Given the description of an element on the screen output the (x, y) to click on. 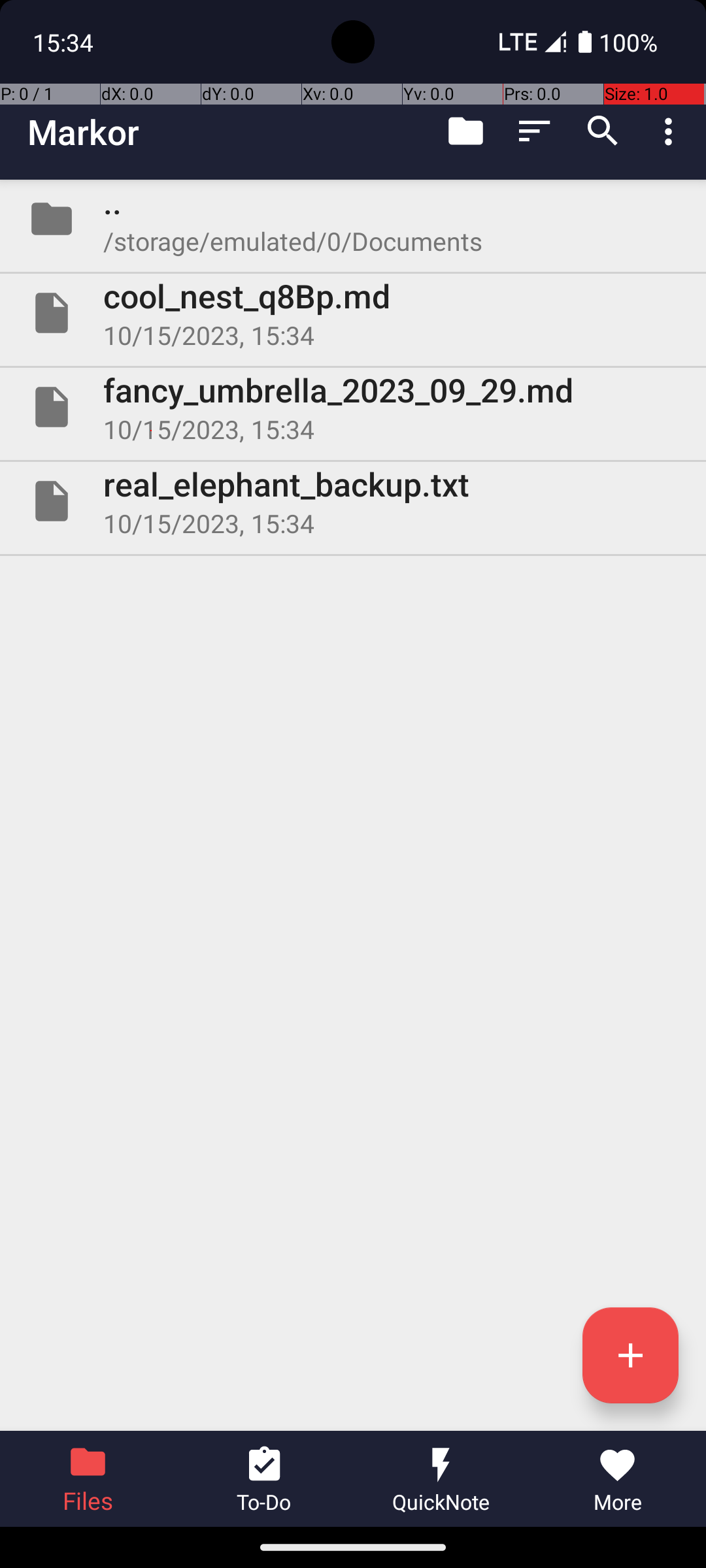
File cool_nest_q8Bp.md  Element type: android.widget.LinearLayout (353, 312)
File fancy_umbrella_2023_09_29.md  Element type: android.widget.LinearLayout (353, 406)
File real_elephant_backup.txt  Element type: android.widget.LinearLayout (353, 500)
